Given the description of an element on the screen output the (x, y) to click on. 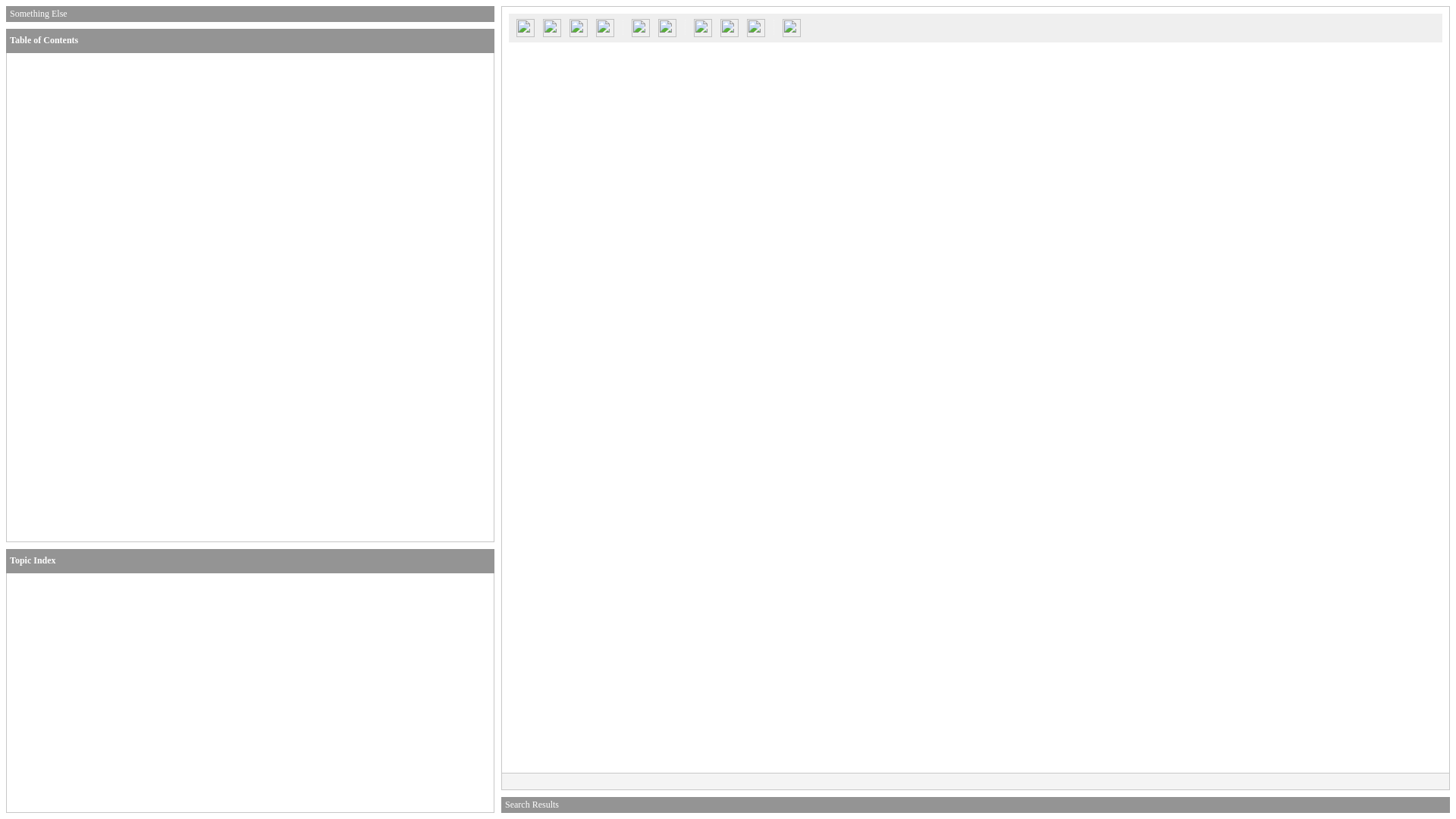
Search (525, 27)
Next Search Hit (666, 27)
Previous Search Hit (640, 27)
Login (551, 27)
Previous Document (578, 27)
Highlight Text (703, 27)
Bookmark (729, 27)
Settings (755, 27)
Help (791, 27)
Next Document (604, 27)
